Given the description of an element on the screen output the (x, y) to click on. 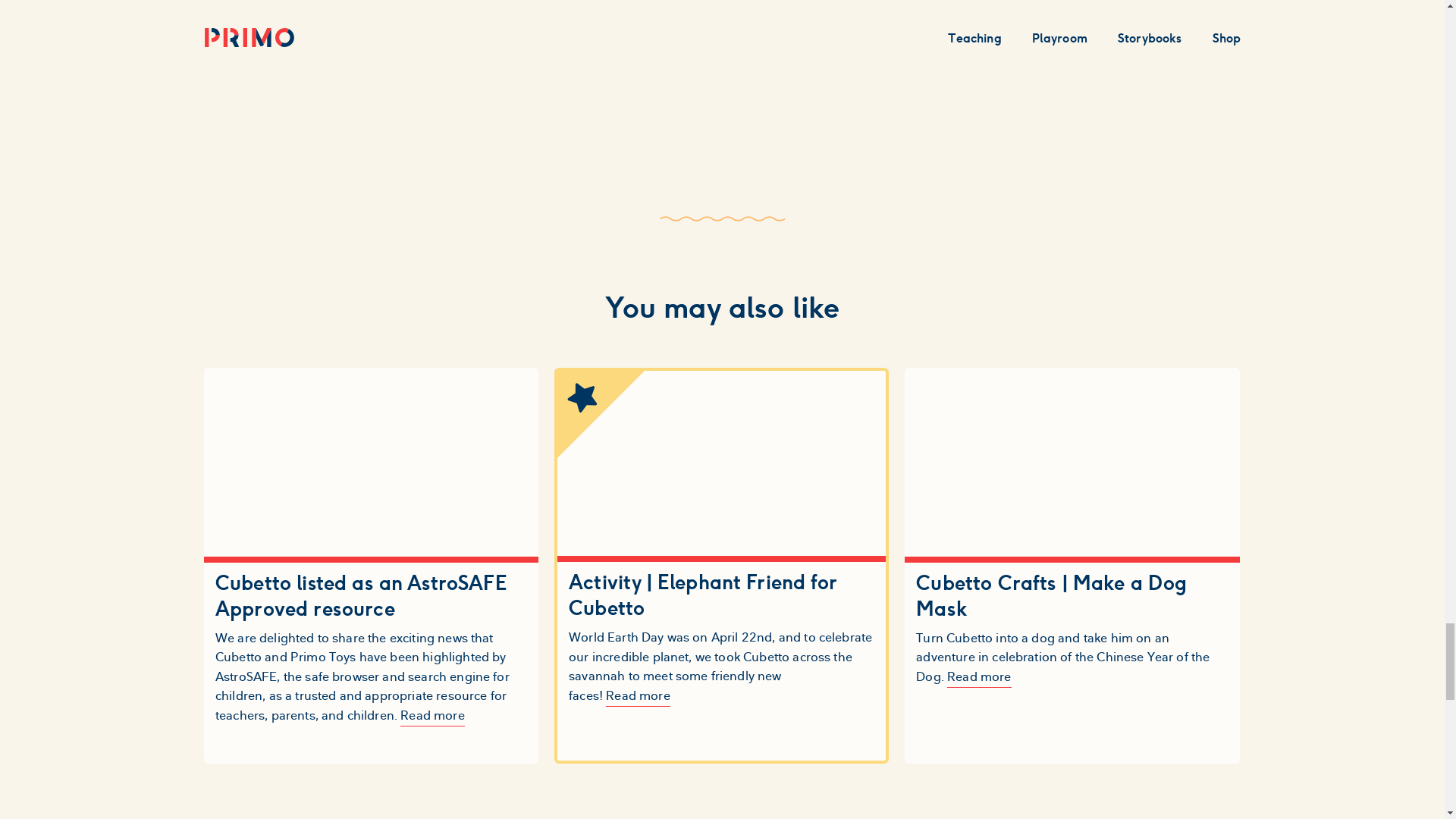
Read more (432, 714)
Cubetto listed as an AstroSAFE Approved resource (371, 594)
Read more (978, 676)
Read more (637, 694)
